Given the description of an element on the screen output the (x, y) to click on. 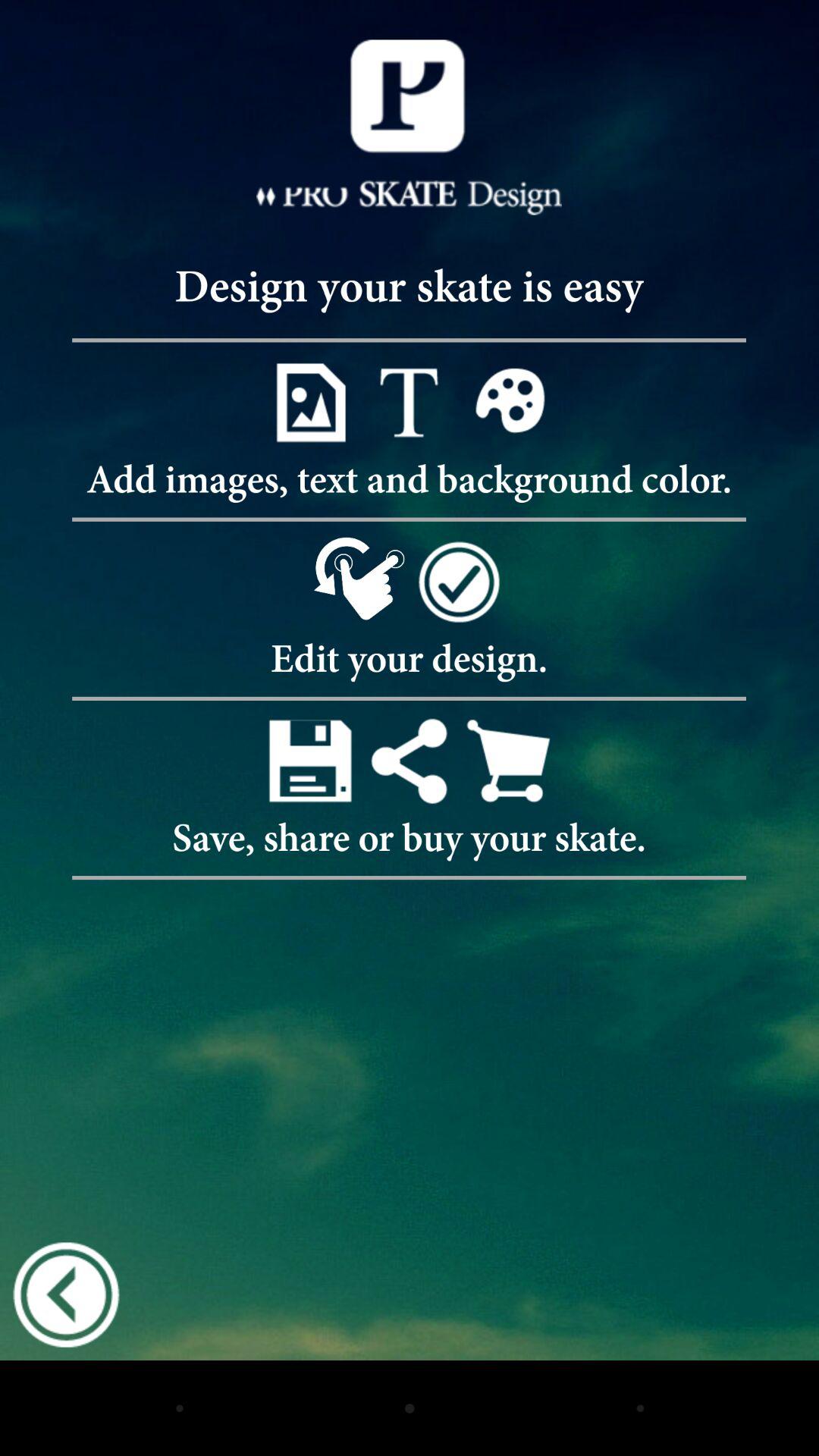
confirm design edit (458, 581)
